Given the description of an element on the screen output the (x, y) to click on. 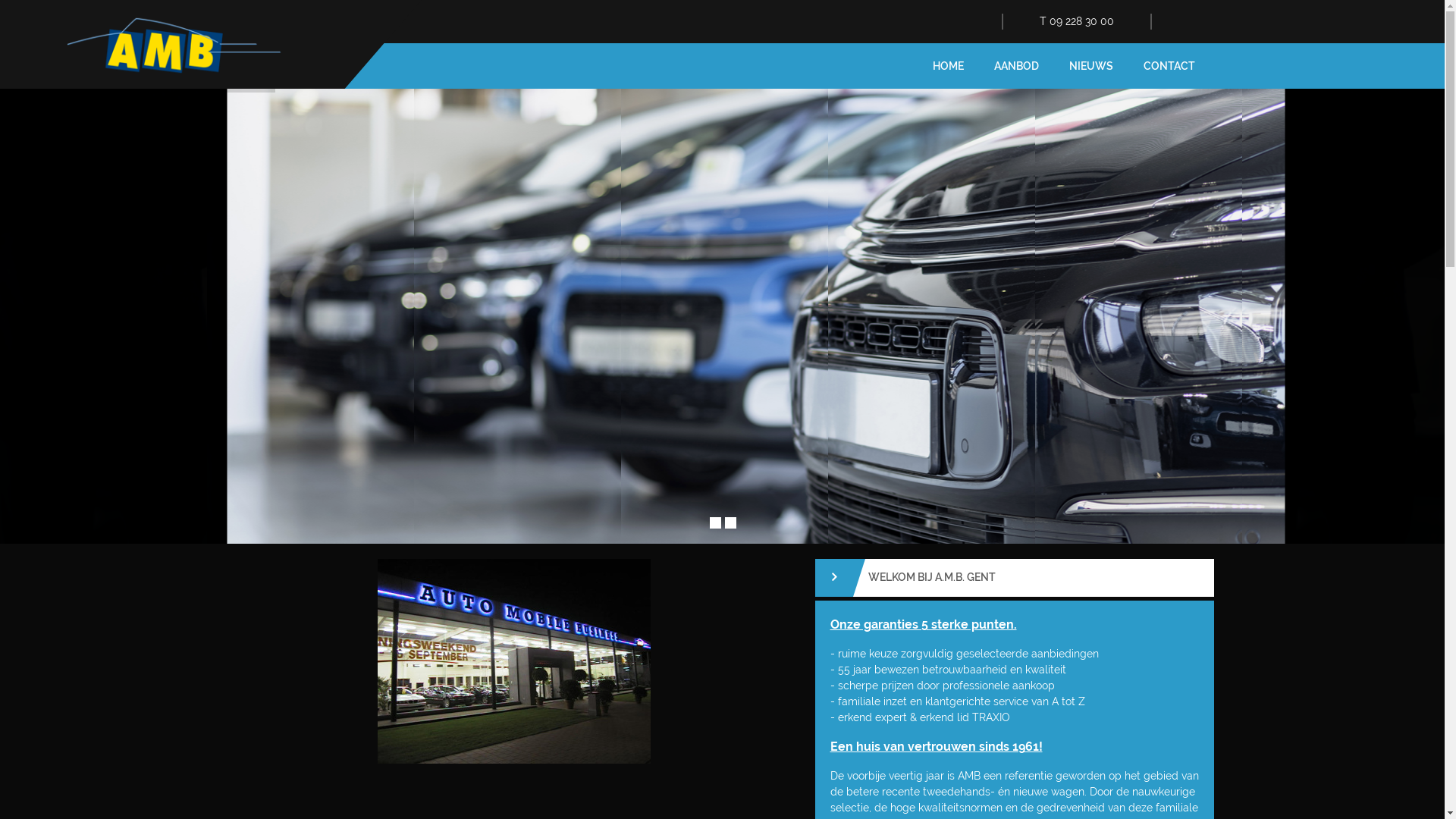
T 09 228 30 00 Element type: text (1075, 21)
WELKOM BIJ A.M.B. GENT Element type: text (1013, 577)
HOME Element type: text (948, 65)
NIEUWS Element type: text (1090, 65)
AANBOD Element type: text (1015, 65)
CONTACT Element type: text (1168, 65)
